Given the description of an element on the screen output the (x, y) to click on. 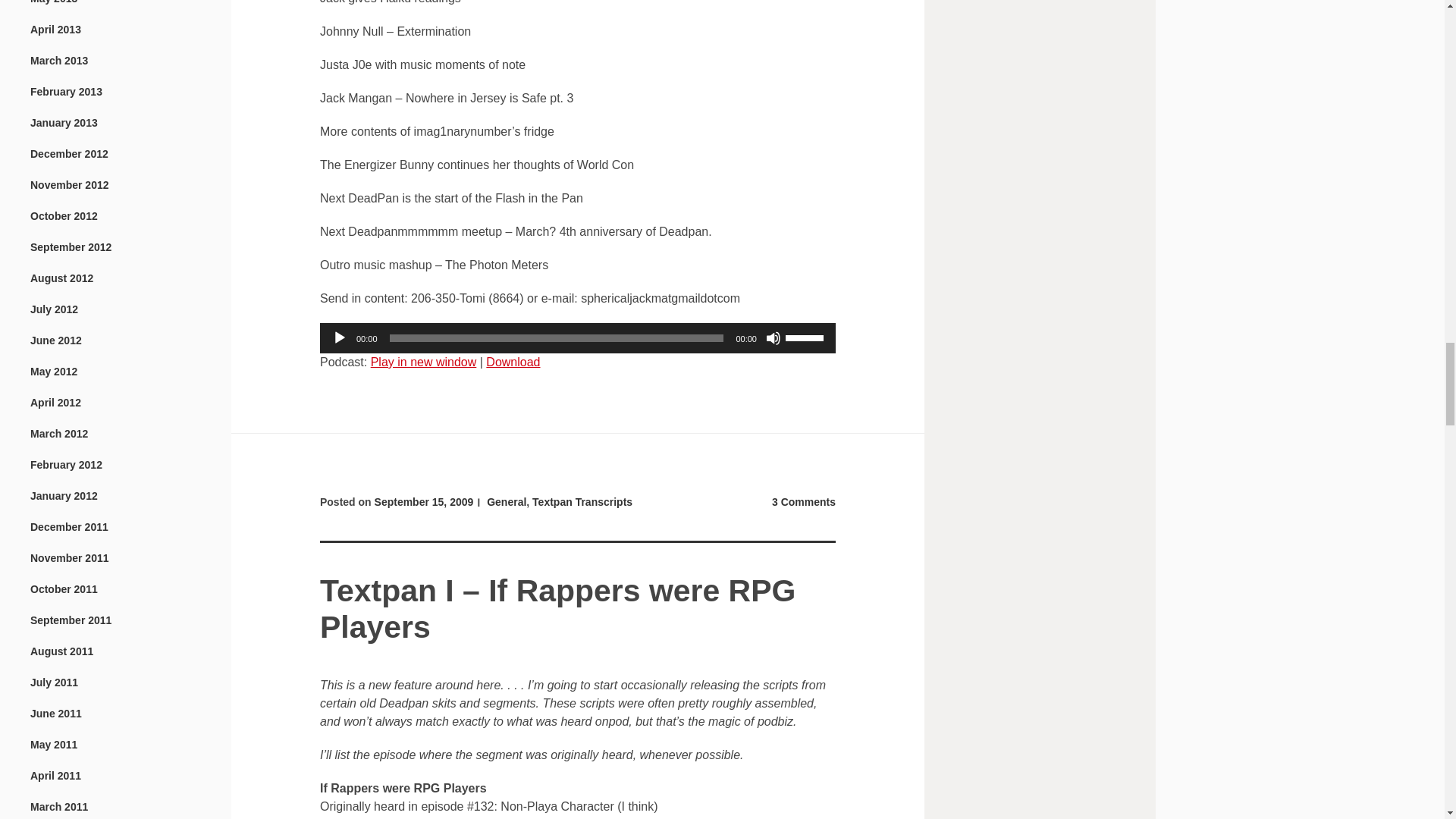
Mute (772, 337)
Play (339, 337)
Play in new window (424, 361)
Download (513, 361)
